Given the description of an element on the screen output the (x, y) to click on. 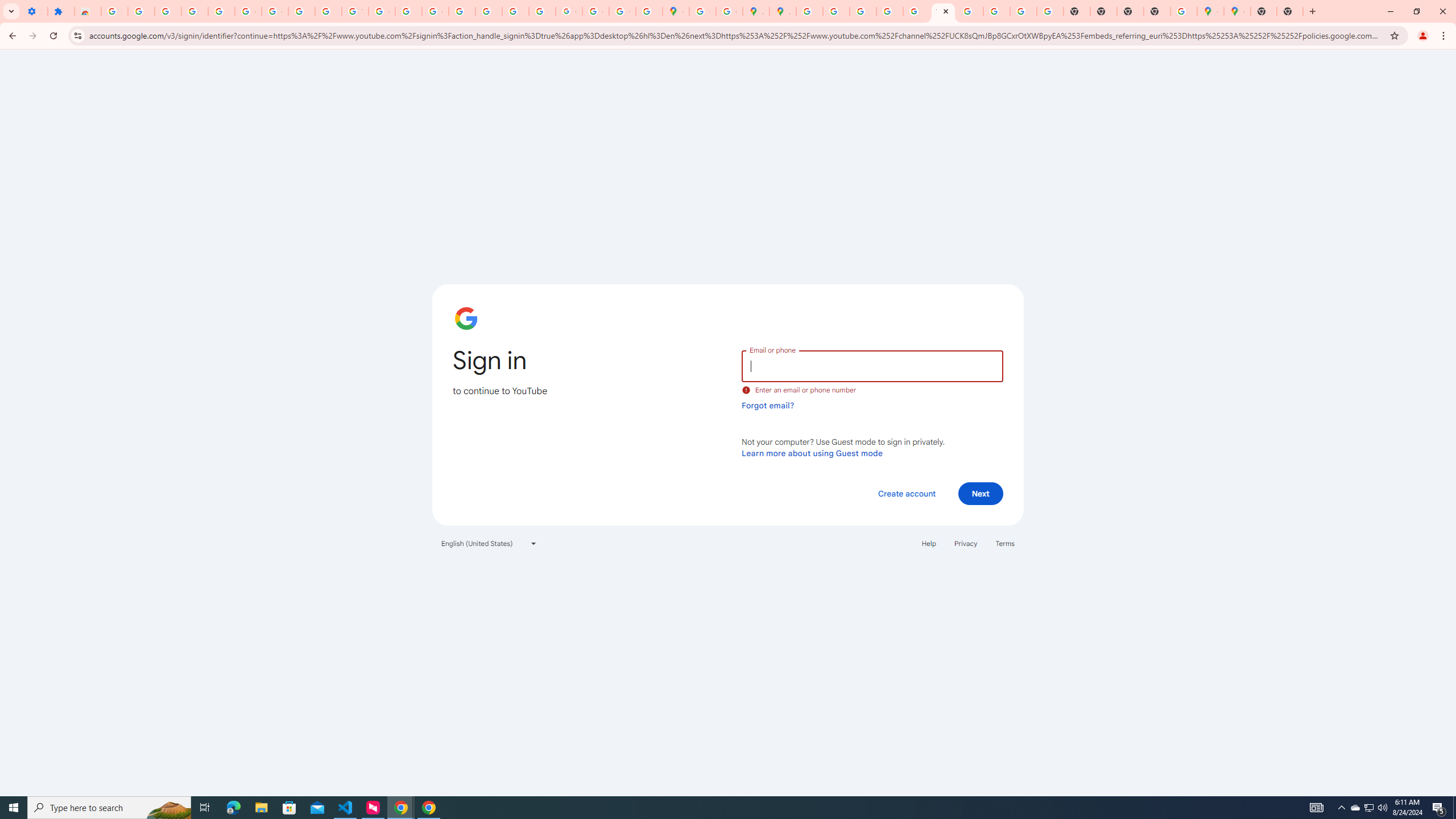
Privacy Help Center - Policies Help (462, 11)
Google Account Help (275, 11)
Google Maps (1236, 11)
Create your Google Account (729, 11)
YouTube (355, 11)
Learn more about using Guest mode (812, 452)
